Given the description of an element on the screen output the (x, y) to click on. 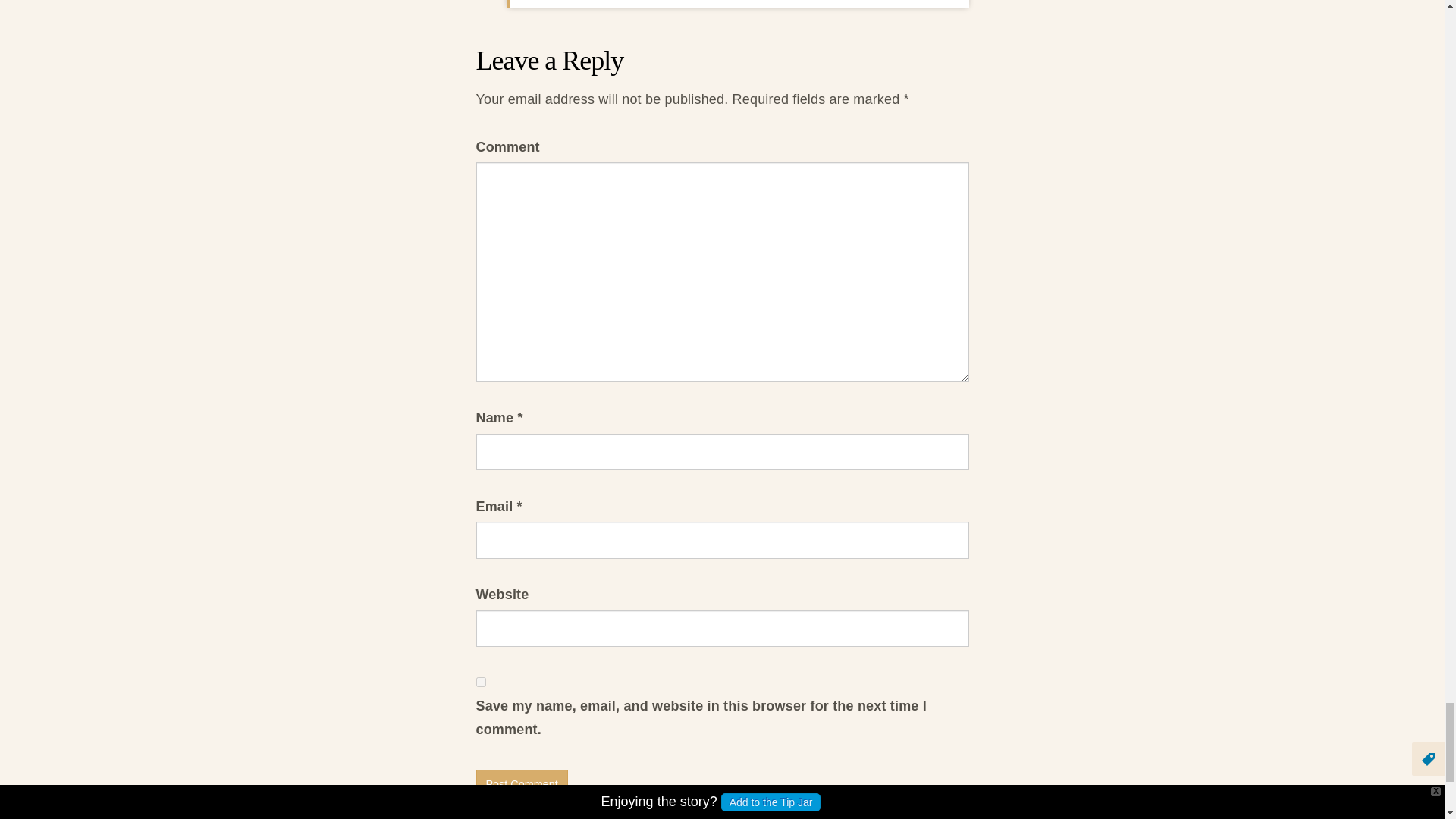
Post Comment (521, 783)
Post Comment (521, 783)
yes (481, 682)
